Given the description of an element on the screen output the (x, y) to click on. 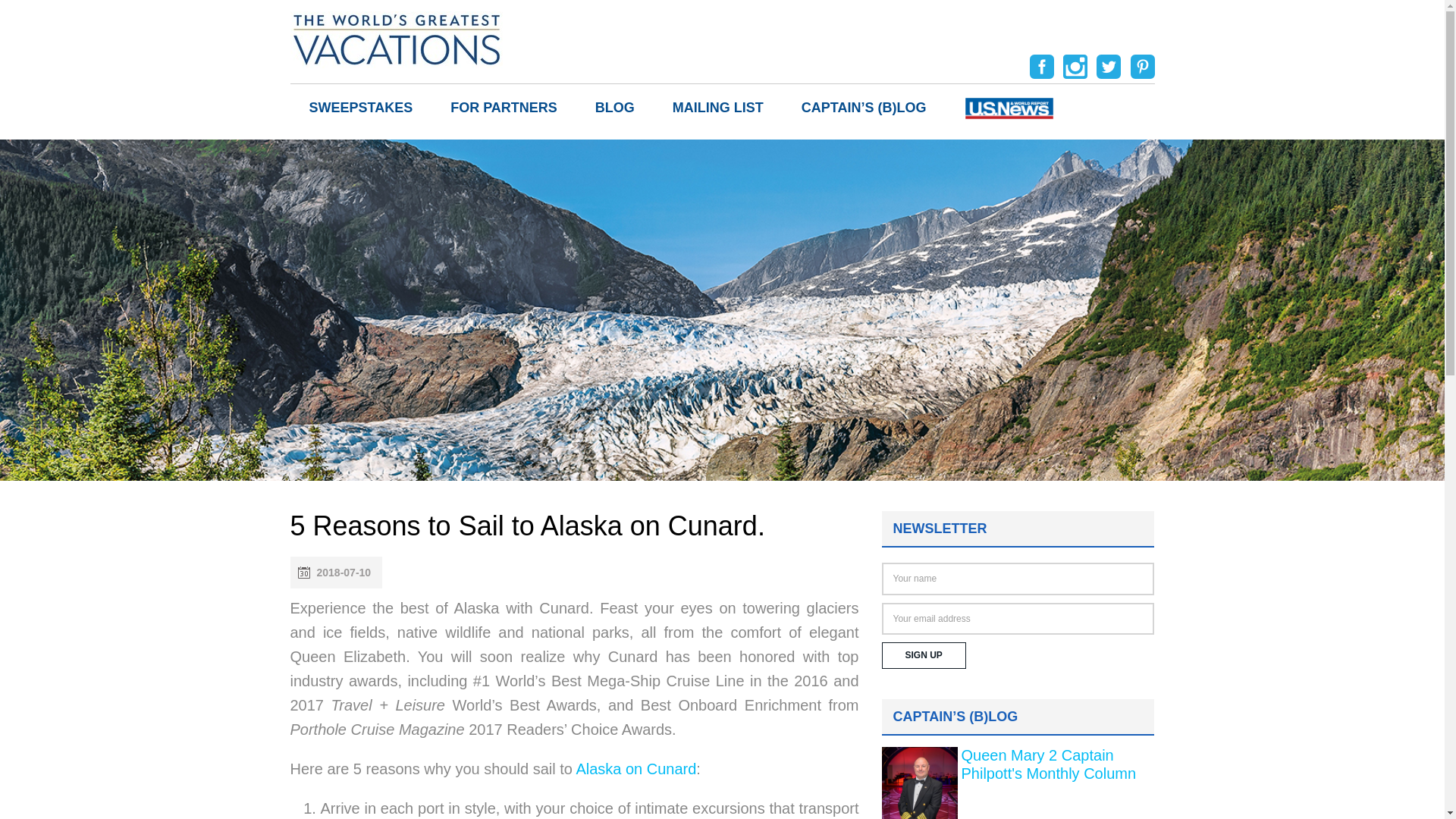
Alaska on Cunard (635, 768)
Sign up (922, 655)
FOR PARTNERS (503, 107)
MAILING LIST (718, 107)
The World's Greatest Vacations (395, 38)
Sign up (922, 655)
SWEEPSTAKES (359, 107)
Queen Mary 2 Captain Philpott's Monthly Column (1048, 764)
BLOG (614, 107)
